Given the description of an element on the screen output the (x, y) to click on. 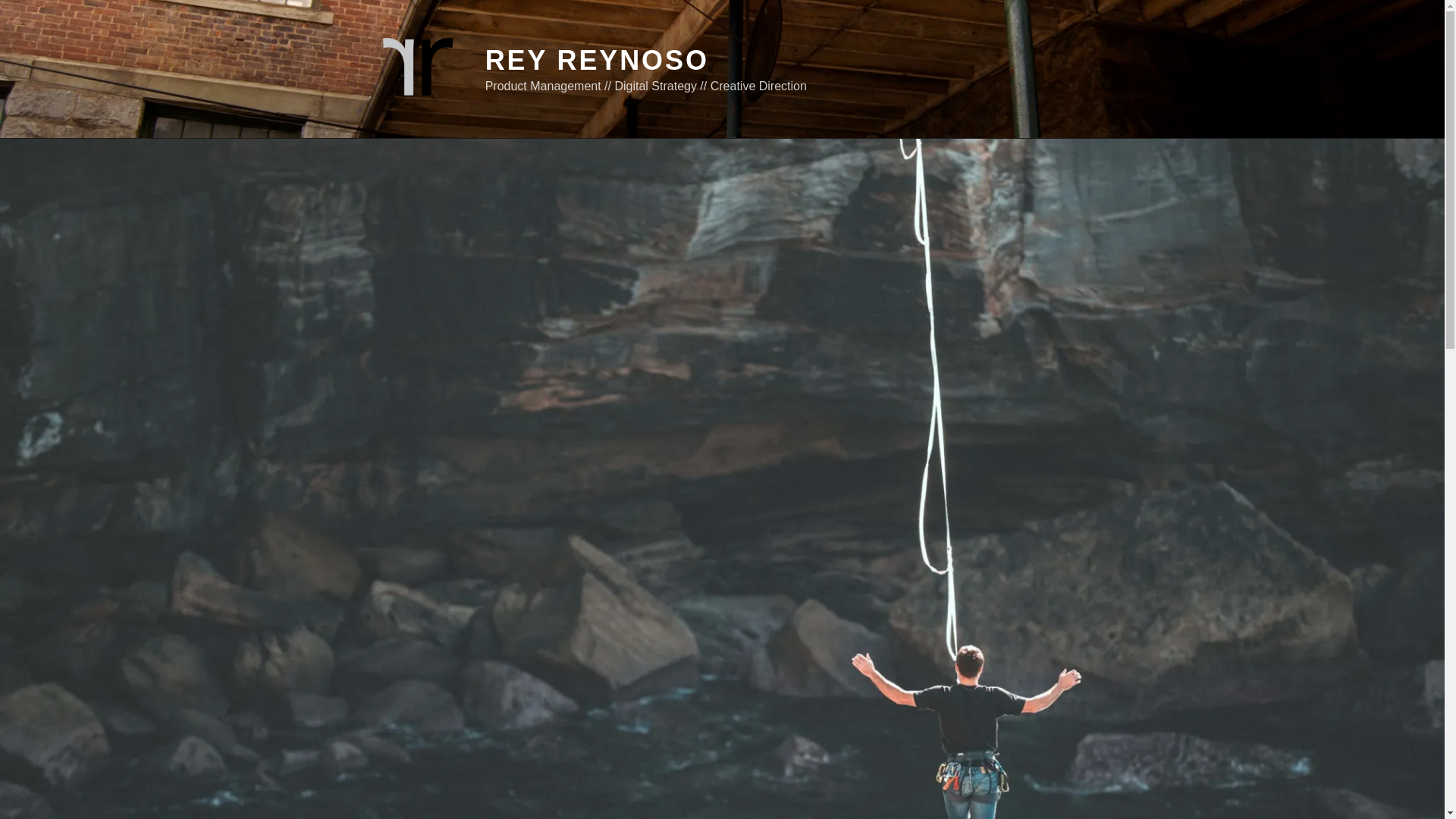
REY REYNOSO (596, 60)
